Given the description of an element on the screen output the (x, y) to click on. 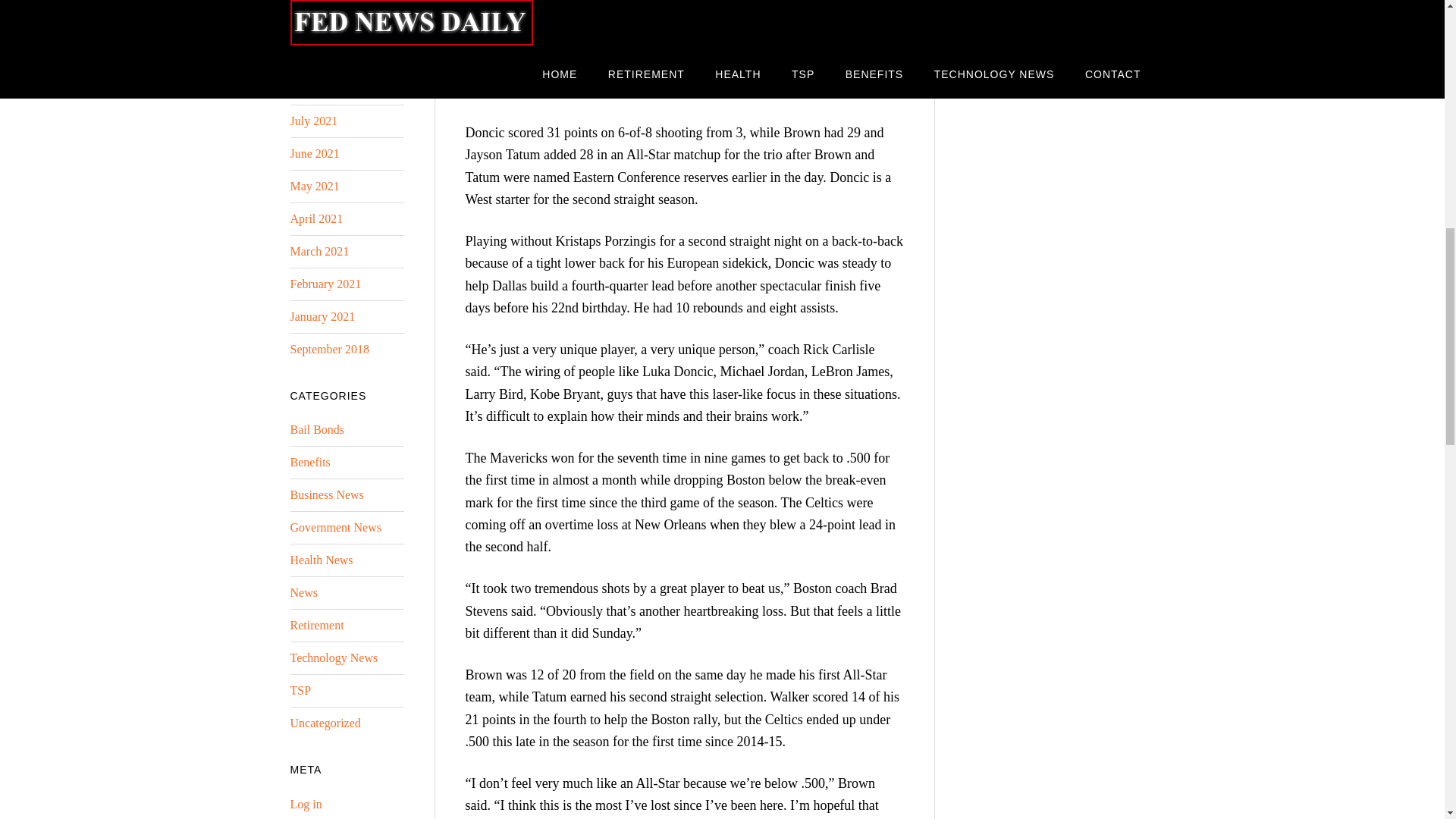
Technology News (1007, 34)
Contact (983, 67)
Benefits (983, 4)
